Given the description of an element on the screen output the (x, y) to click on. 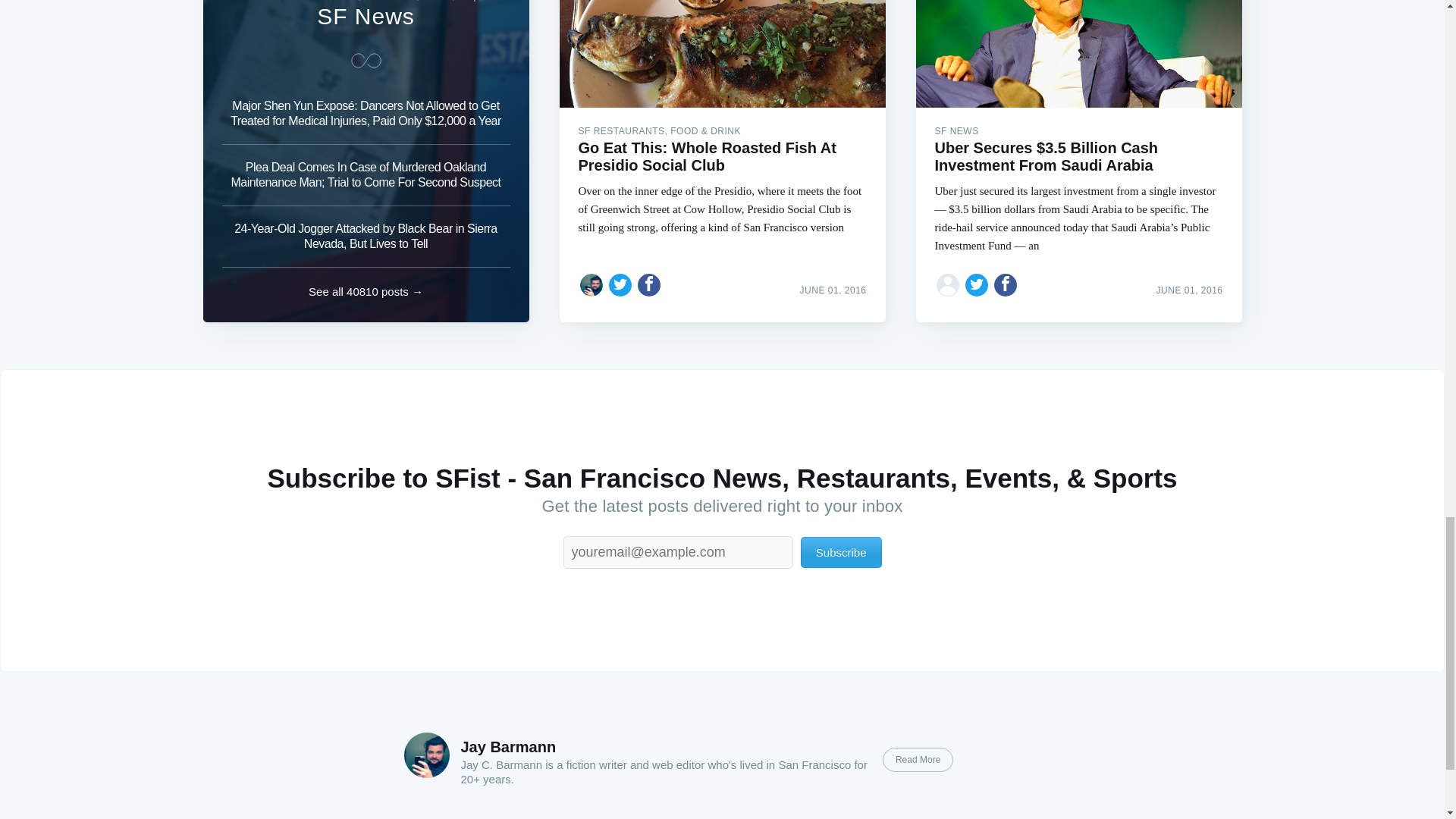
Share on Twitter (976, 284)
SF News (365, 16)
Share on Facebook (1004, 284)
Share on Twitter (620, 284)
Share on Facebook (649, 284)
